Given the description of an element on the screen output the (x, y) to click on. 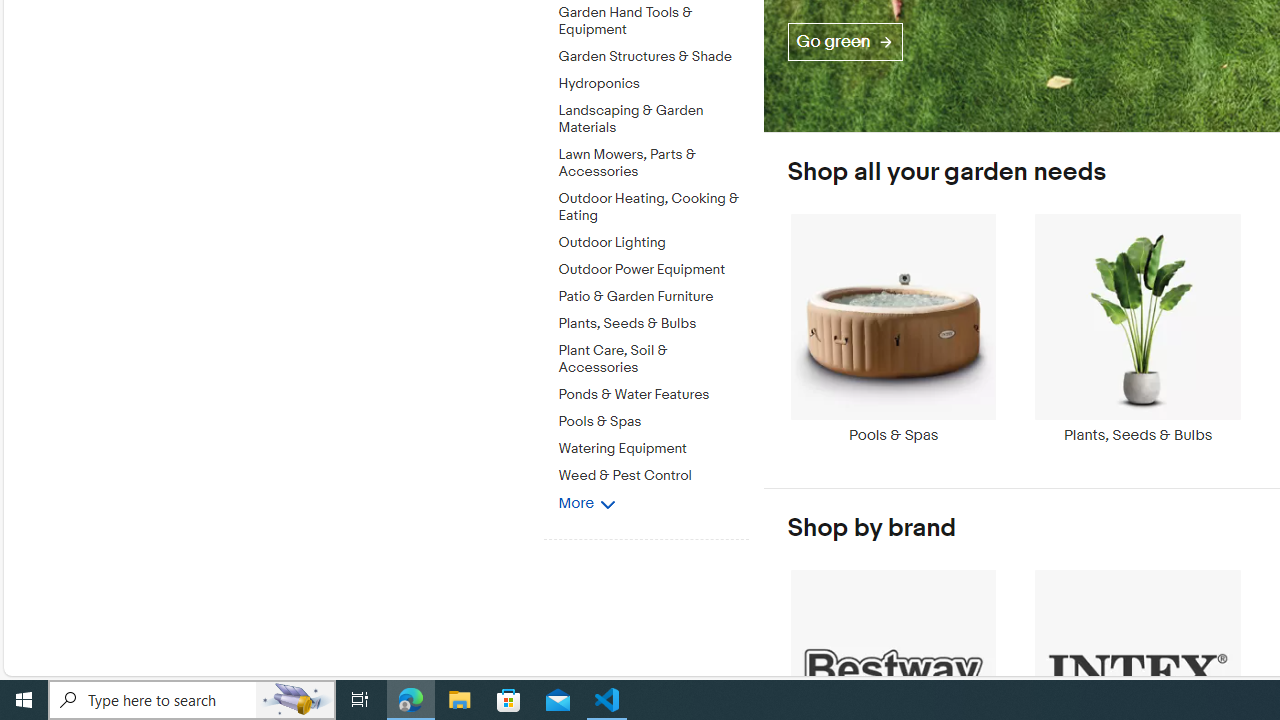
Watering Equipment (653, 449)
Hydroponics (653, 84)
Pools & Spas (893, 328)
Lawn Mowers, Parts & Accessories (653, 160)
Weed & Pest Control (653, 476)
More View more categories (586, 502)
Weed & Pest Control (653, 472)
Garden Structures & Shade (653, 57)
Outdoor Lighting (653, 239)
Ponds & Water Features (653, 394)
Plant Care, Soil & Accessories (653, 356)
Watering Equipment (653, 445)
Lawn Mowers, Parts & Accessories (653, 164)
Outdoor Heating, Cooking & Eating (653, 204)
Outdoor Heating, Cooking & Eating (653, 208)
